Given the description of an element on the screen output the (x, y) to click on. 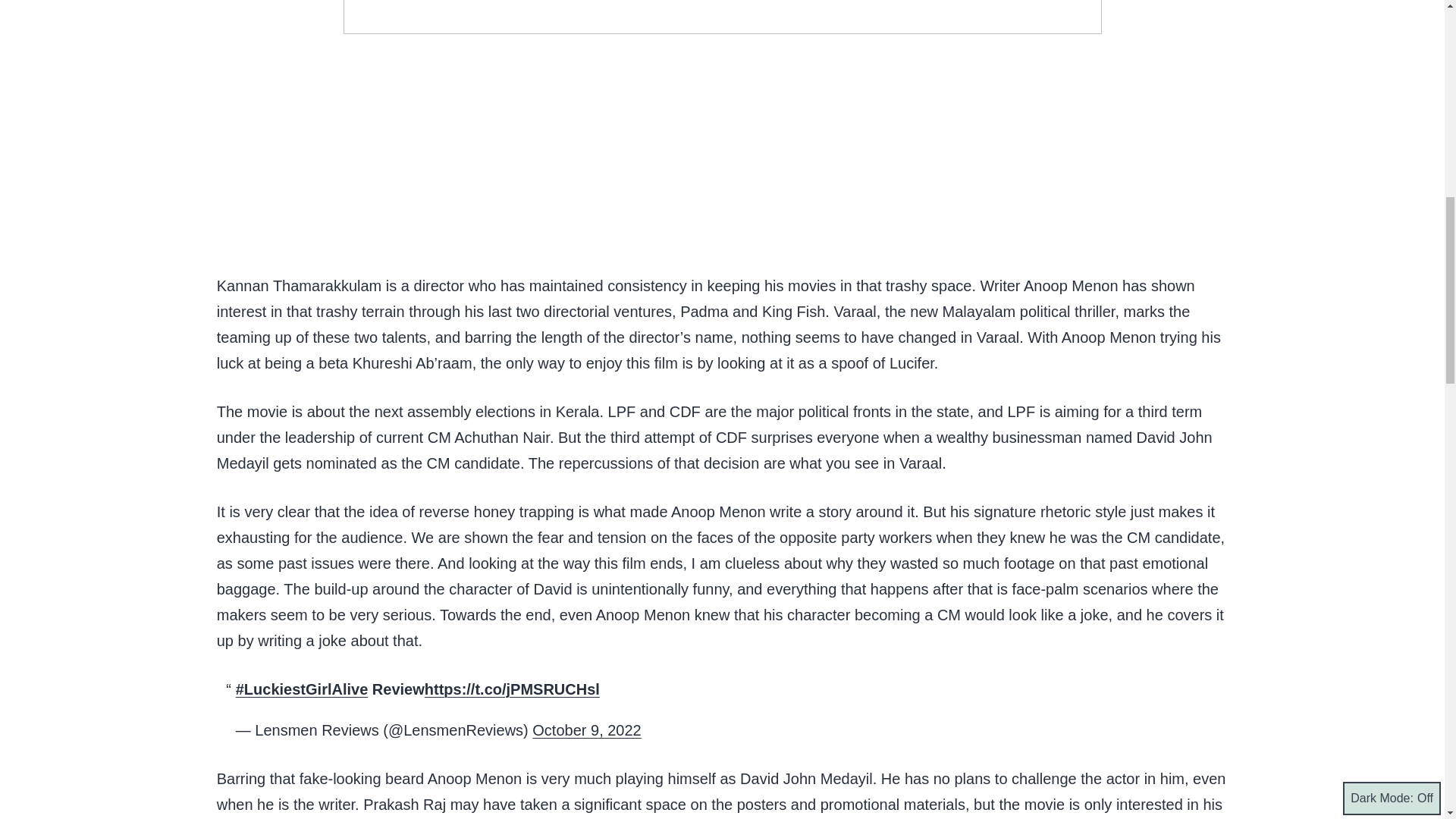
October 9, 2022 (586, 729)
